Given the description of an element on the screen output the (x, y) to click on. 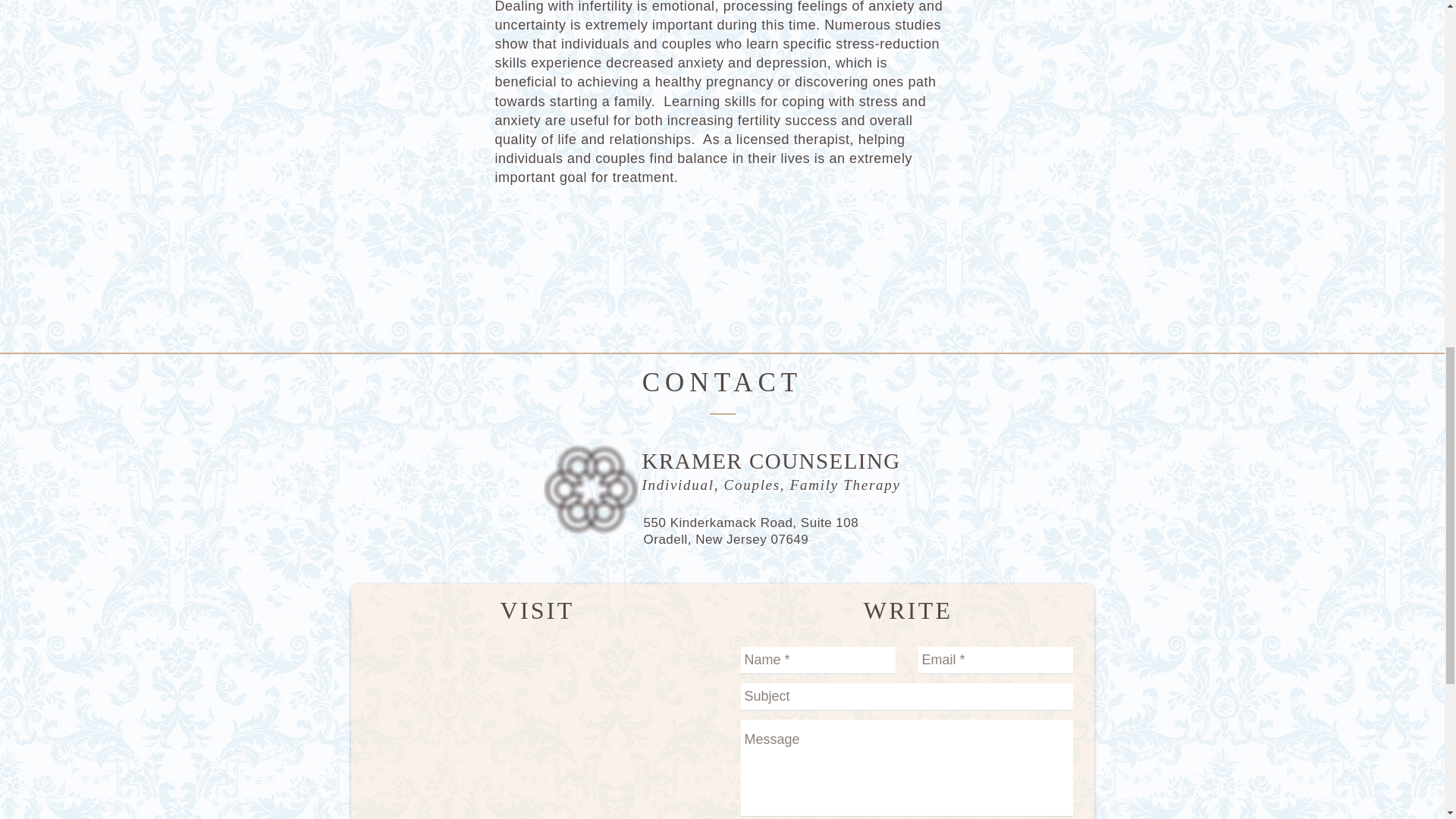
KRAMER COUNSELING (770, 460)
Individual, Couples, Family Therapy (770, 484)
